Given the description of an element on the screen output the (x, y) to click on. 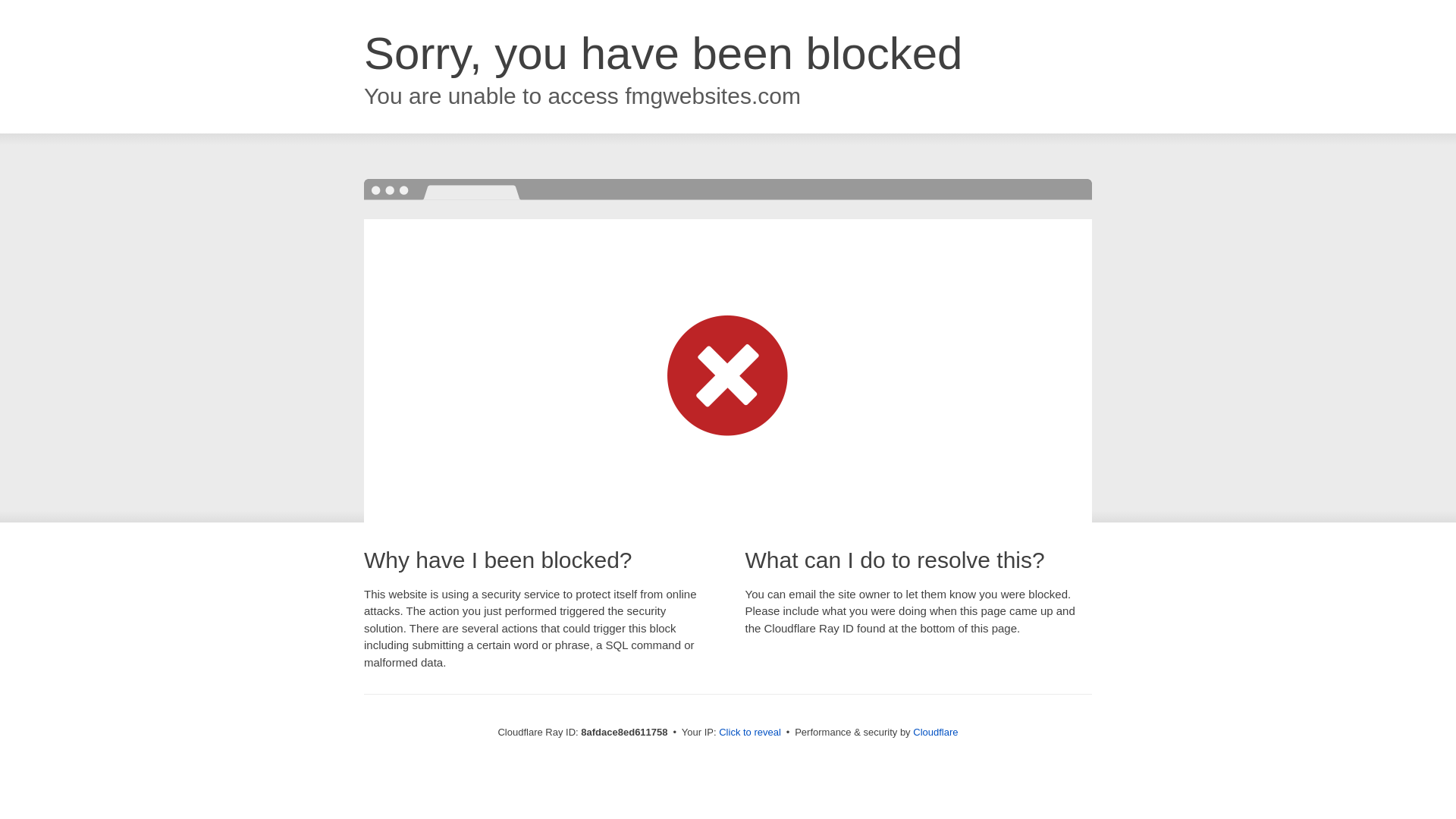
Cloudflare (935, 731)
Click to reveal (749, 732)
